Given the description of an element on the screen output the (x, y) to click on. 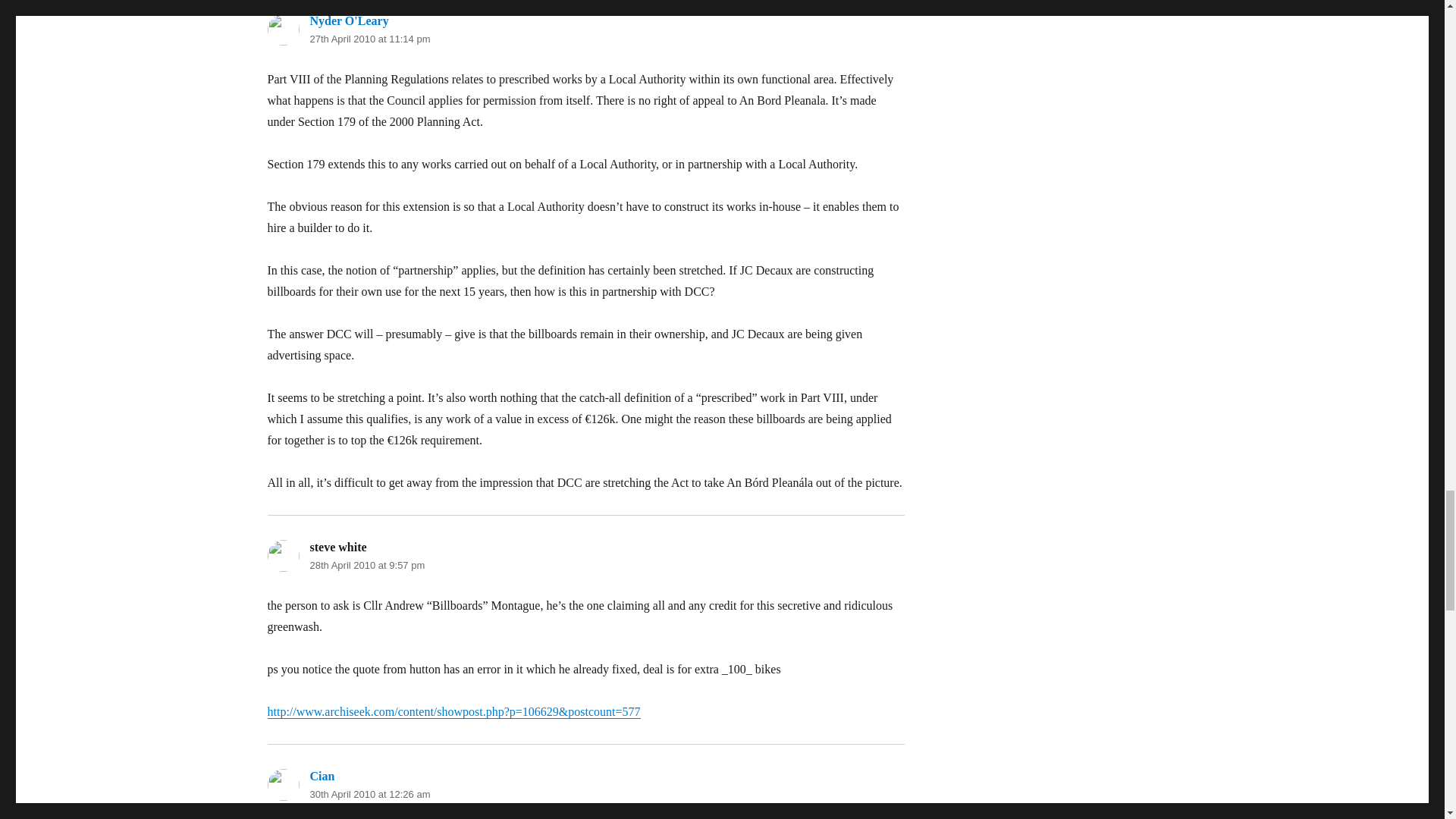
Cian (321, 775)
Nyder O'Leary (348, 20)
27th April 2010 at 11:14 pm (368, 39)
30th April 2010 at 12:26 am (368, 794)
28th April 2010 at 9:57 pm (366, 564)
